Given the description of an element on the screen output the (x, y) to click on. 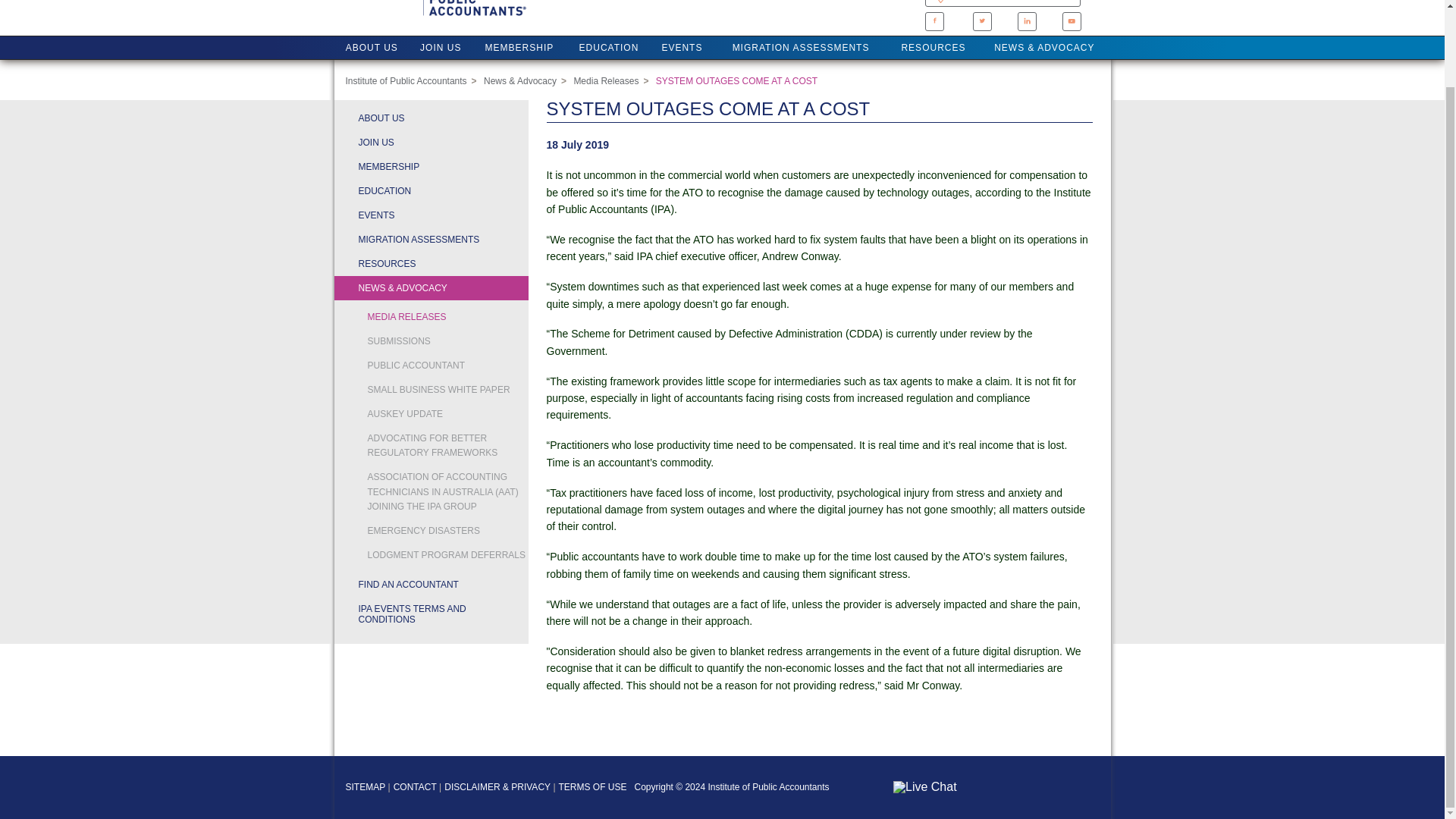
Institute of Public Accountants (406, 81)
FACEBOOK ICON CREATED WITH SKETCH. (933, 21)
Sitemap (365, 787)
Terms of Use (593, 787)
MEMBERSHIP (518, 47)
Contact us (414, 787)
LINKDIN (1026, 20)
SYSTEM OUTAGES COME AT A COST (736, 81)
Privacy Policy (497, 787)
YOUTUBE CREATED WITH SKETCH. (1071, 20)
